Given the description of an element on the screen output the (x, y) to click on. 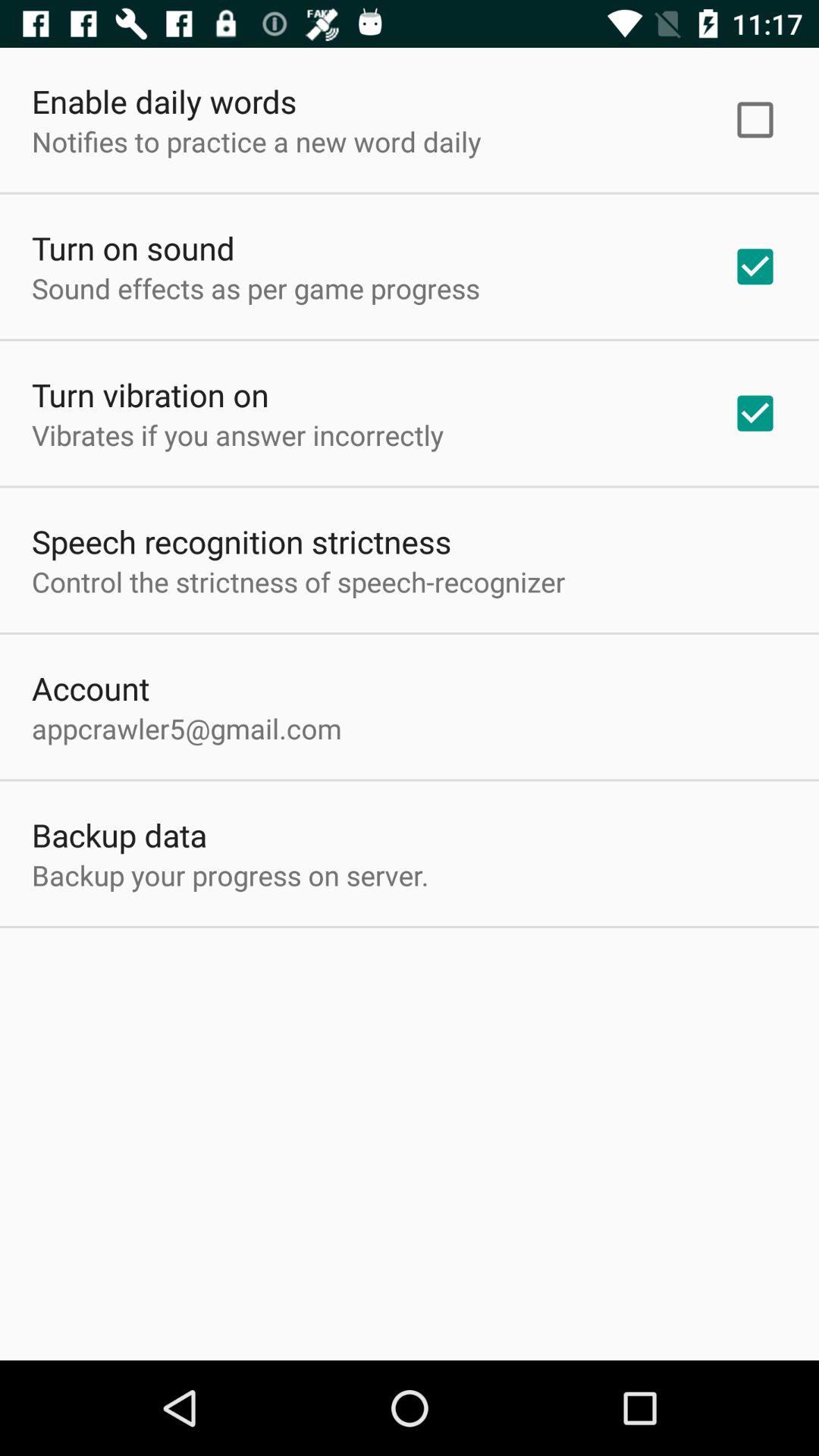
tap the icon below account (186, 728)
